Given the description of an element on the screen output the (x, y) to click on. 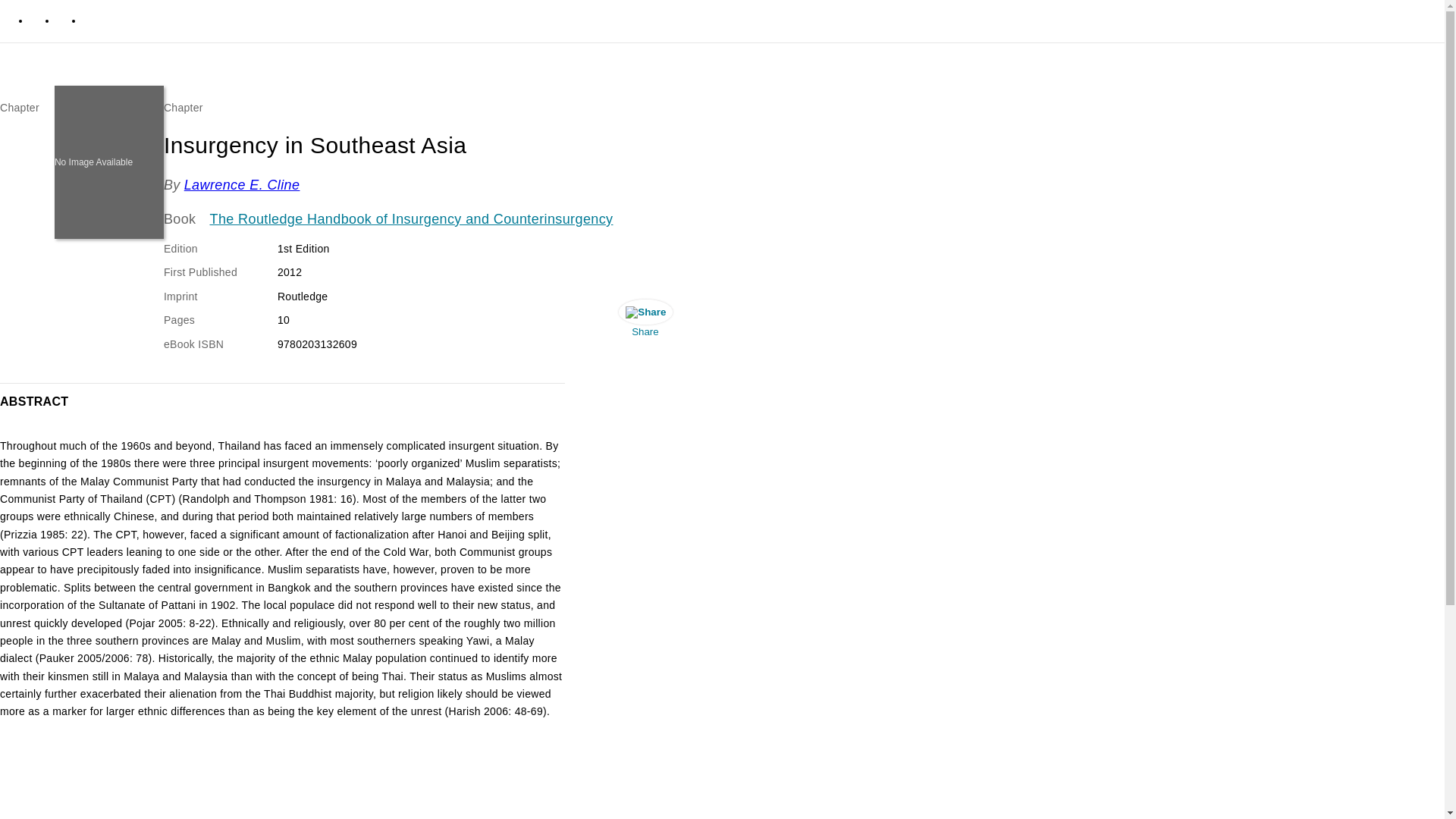
The Routledge Handbook of Insurgency and Counterinsurgency (410, 219)
Lawrence E. Cline (241, 184)
Share (644, 321)
